Given the description of an element on the screen output the (x, y) to click on. 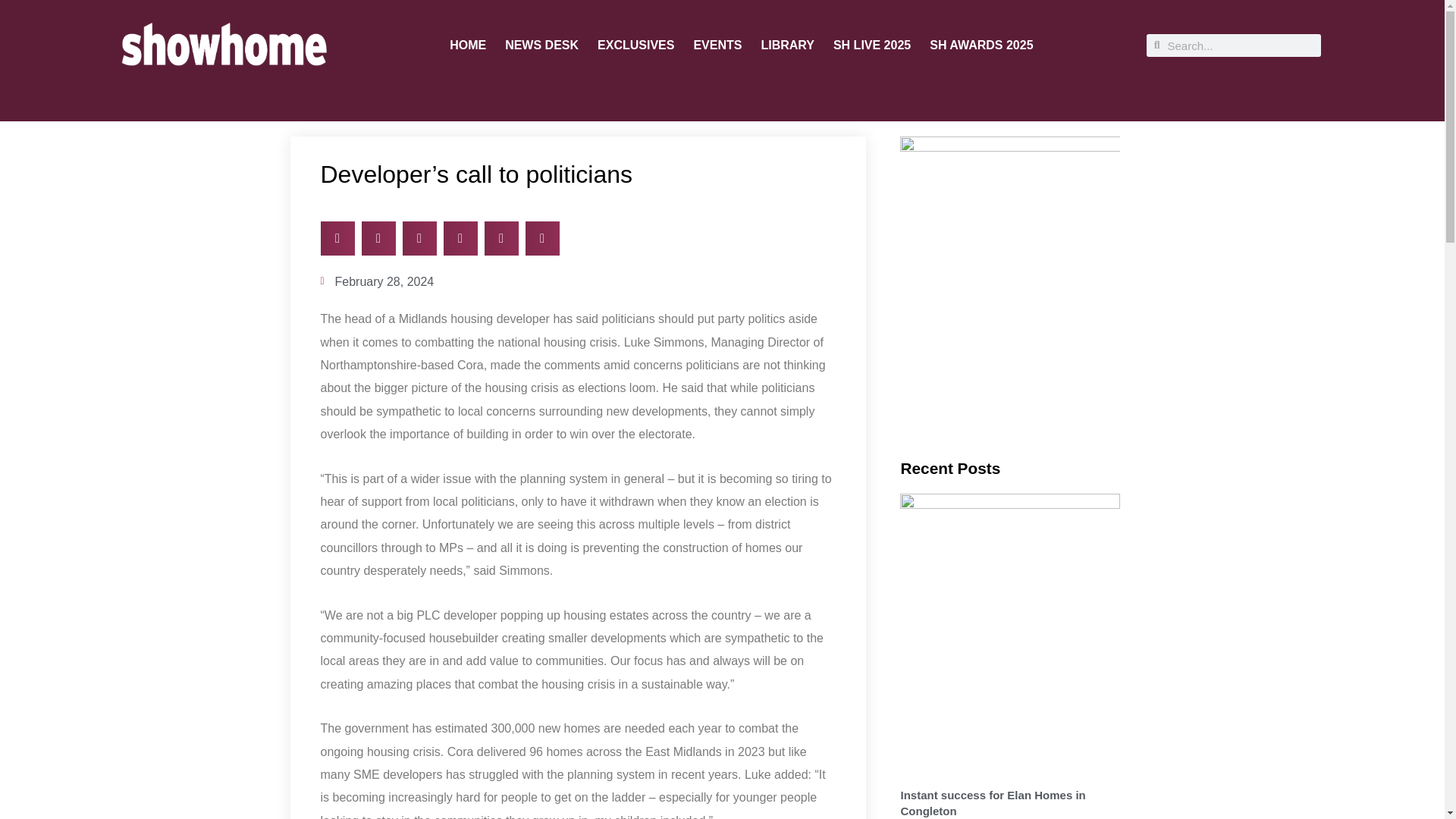
LIBRARY (786, 45)
EXCLUSIVES (635, 45)
HOME (467, 45)
EVENTS (717, 45)
NEWS DESK (541, 45)
SH LIVE 2025 (871, 45)
SH AWARDS 2025 (981, 45)
